Given the description of an element on the screen output the (x, y) to click on. 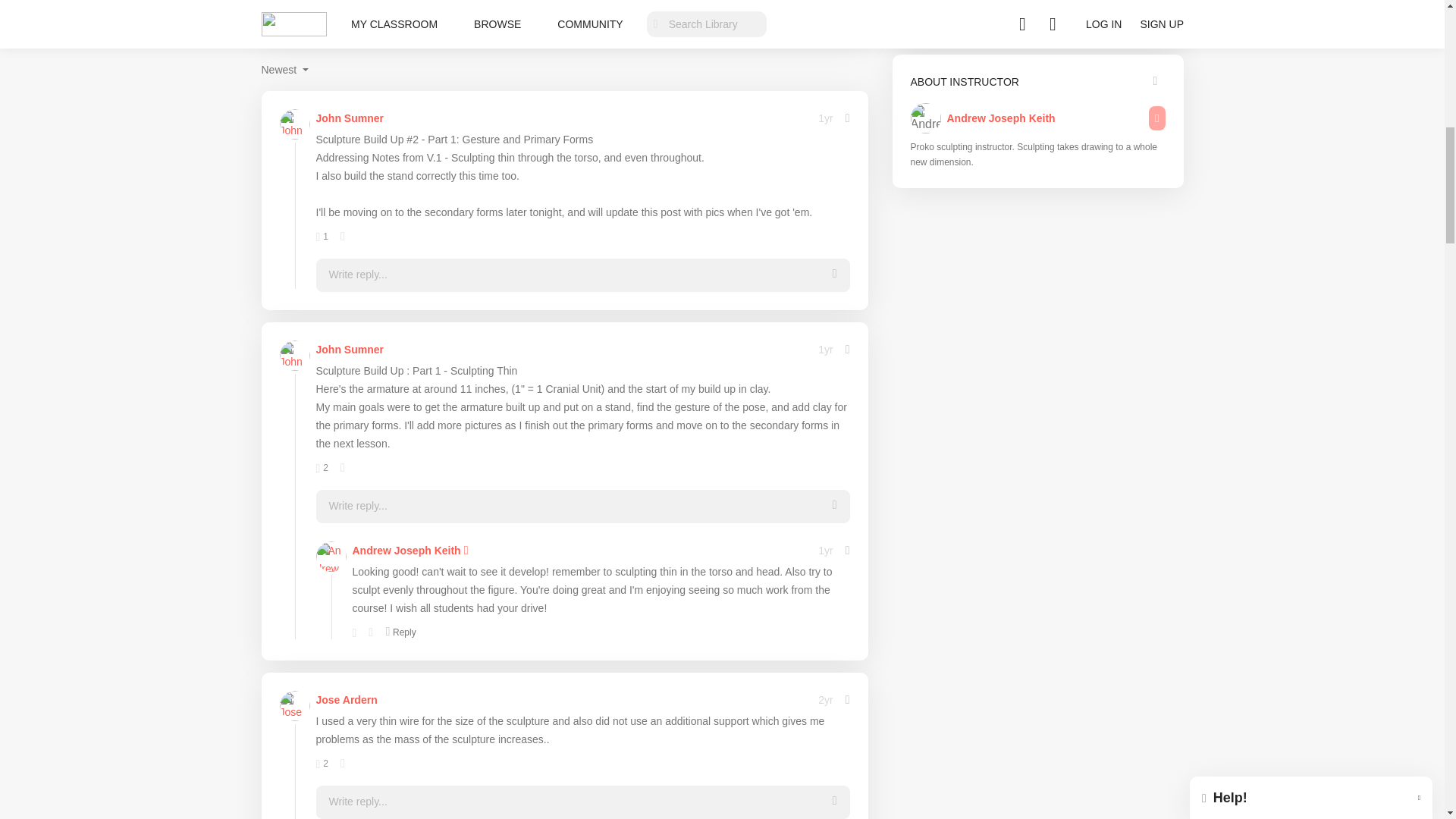
1 (322, 236)
John Sumner (348, 349)
John Sumner (348, 117)
2 (322, 467)
